Given the description of an element on the screen output the (x, y) to click on. 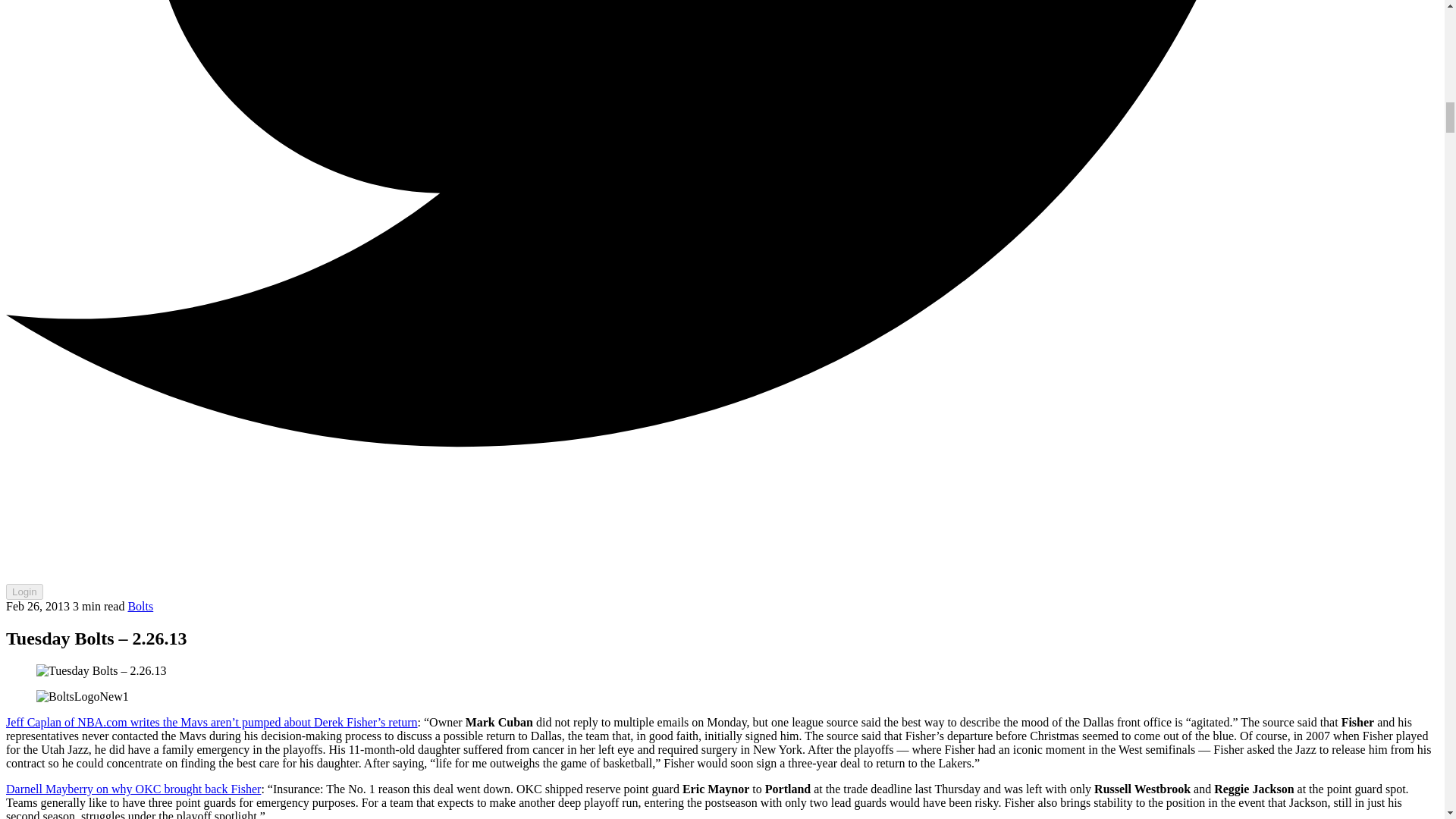
Bolts (140, 605)
Login (24, 591)
Darnell Mayberry on why OKC brought back Fisher (132, 788)
